Given the description of an element on the screen output the (x, y) to click on. 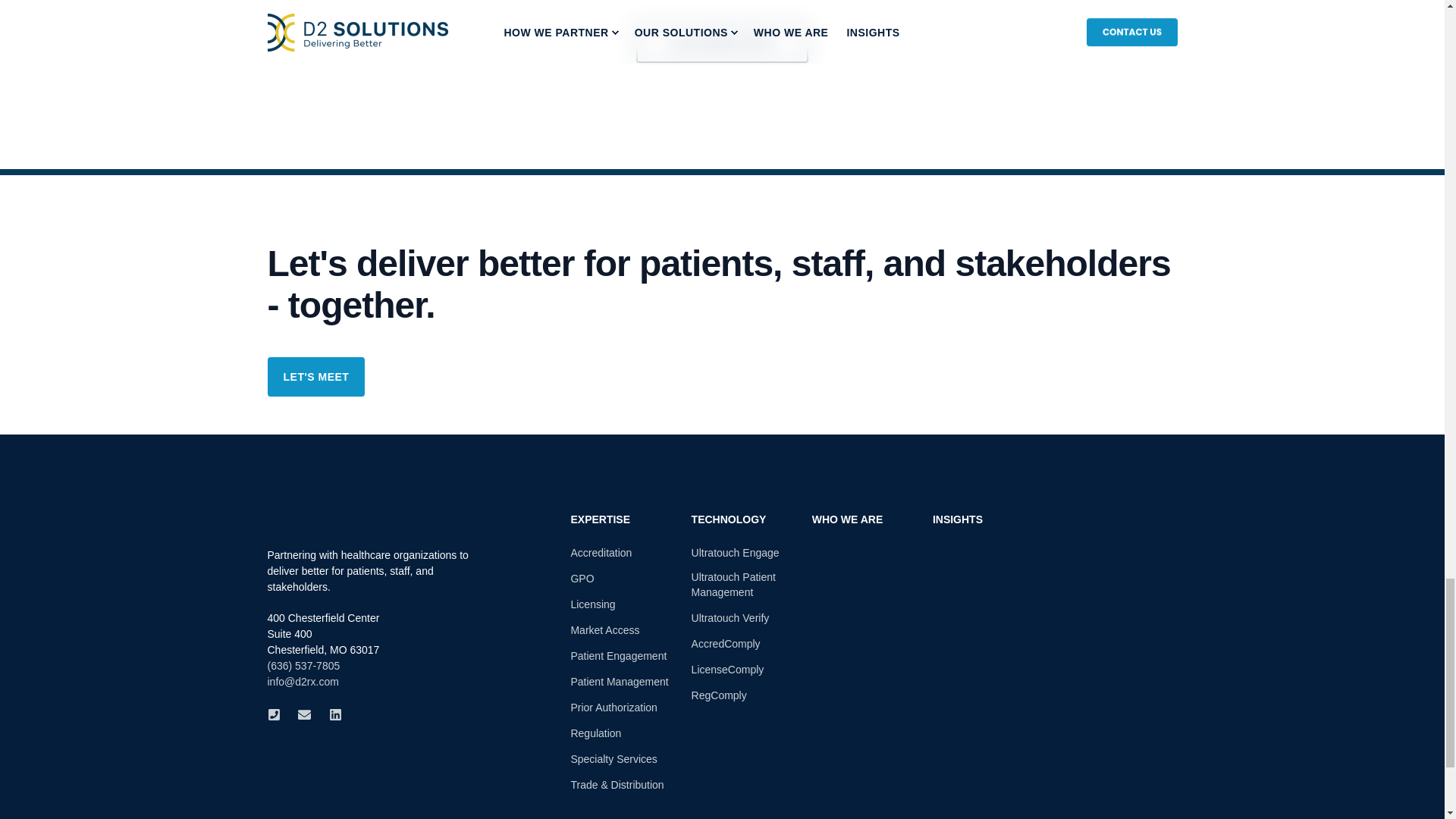
Button Let's Meet (315, 376)
